Given the description of an element on the screen output the (x, y) to click on. 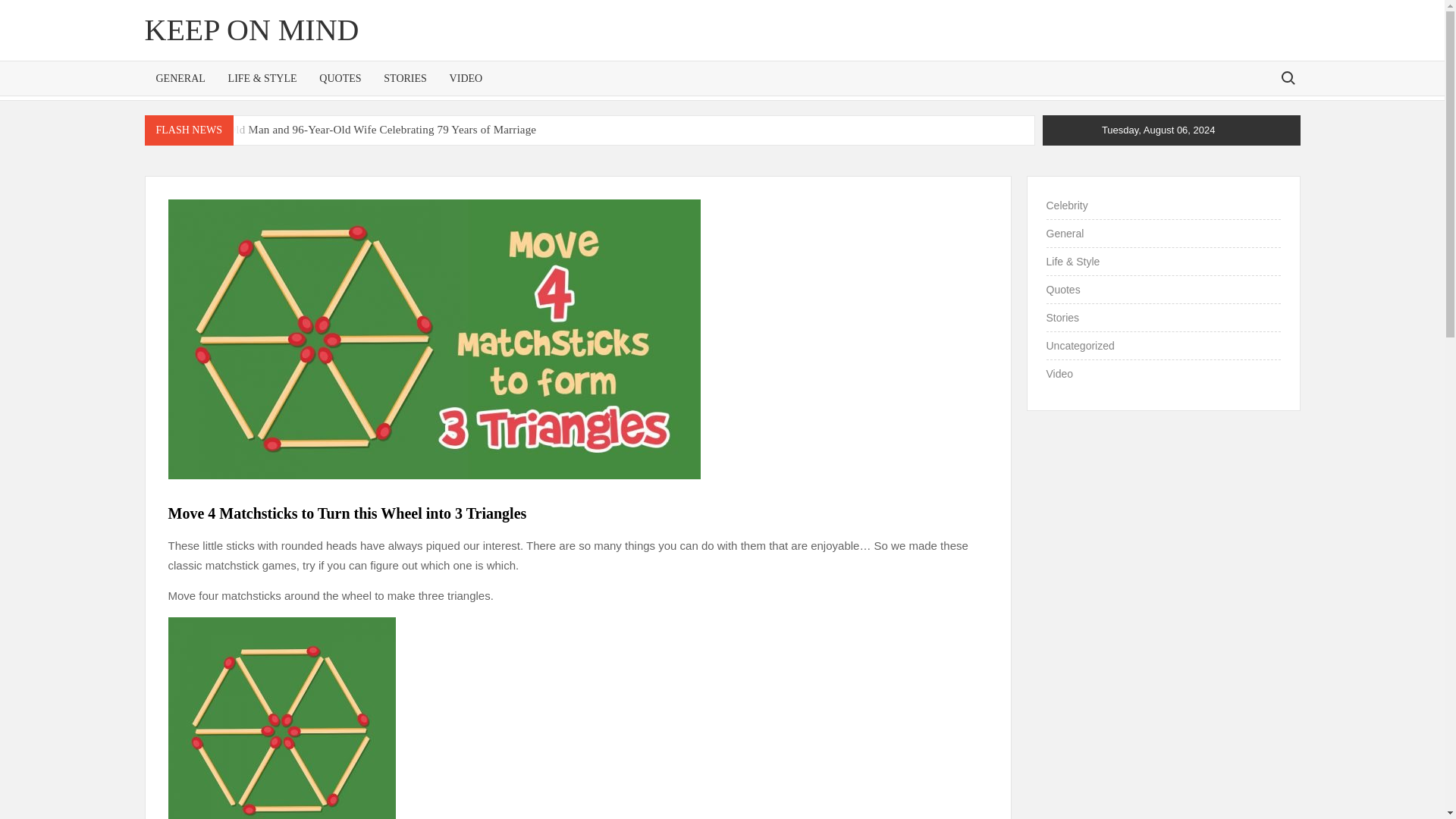
Thank You (852, 154)
Search for: (1287, 77)
Thankful To Be Alive (700, 154)
QUOTES (339, 78)
KEEP ON MIND (251, 29)
GENERAL (179, 78)
STORIES (405, 78)
